Given the description of an element on the screen output the (x, y) to click on. 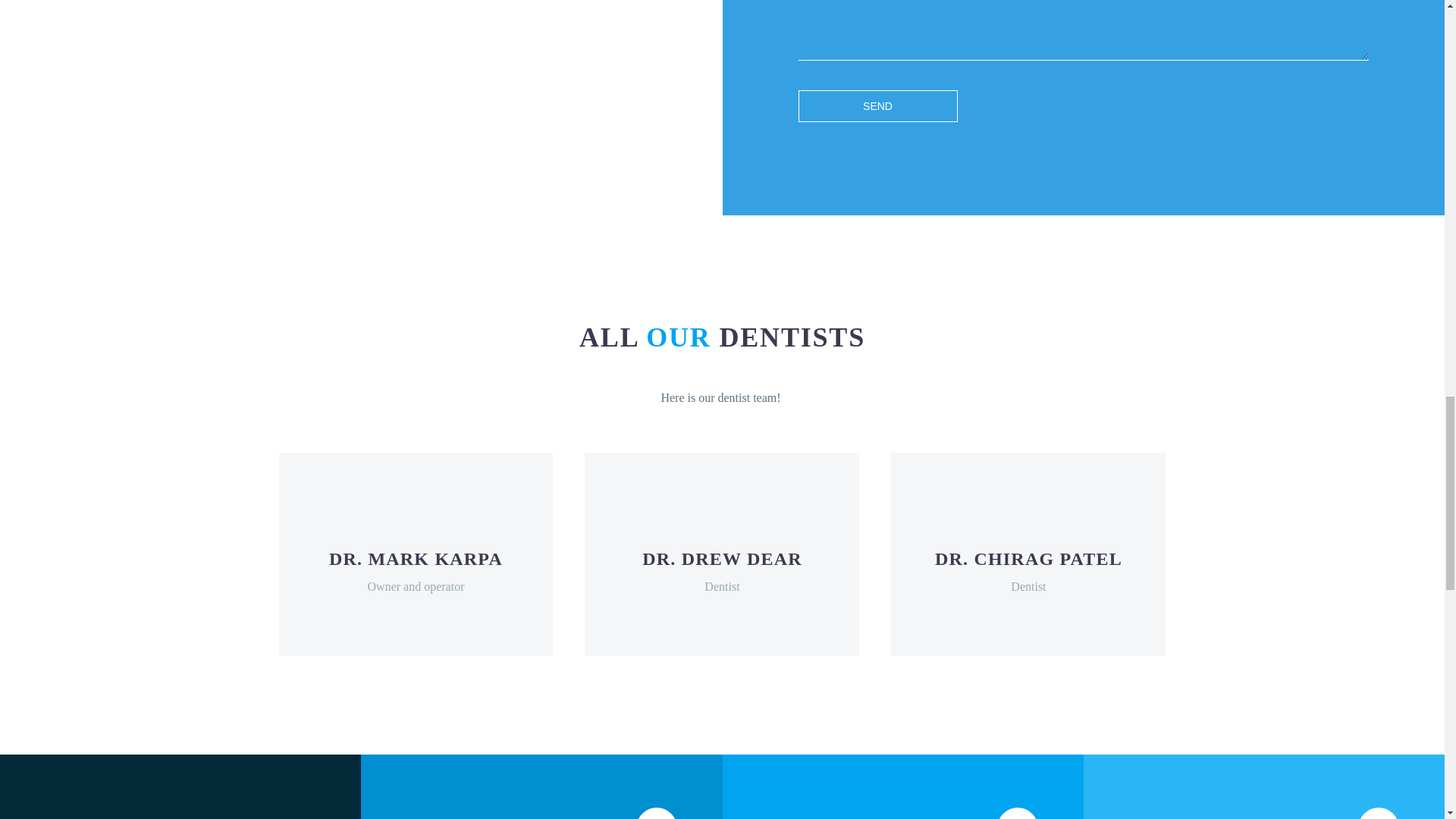
Send (876, 106)
Send (876, 106)
